Given the description of an element on the screen output the (x, y) to click on. 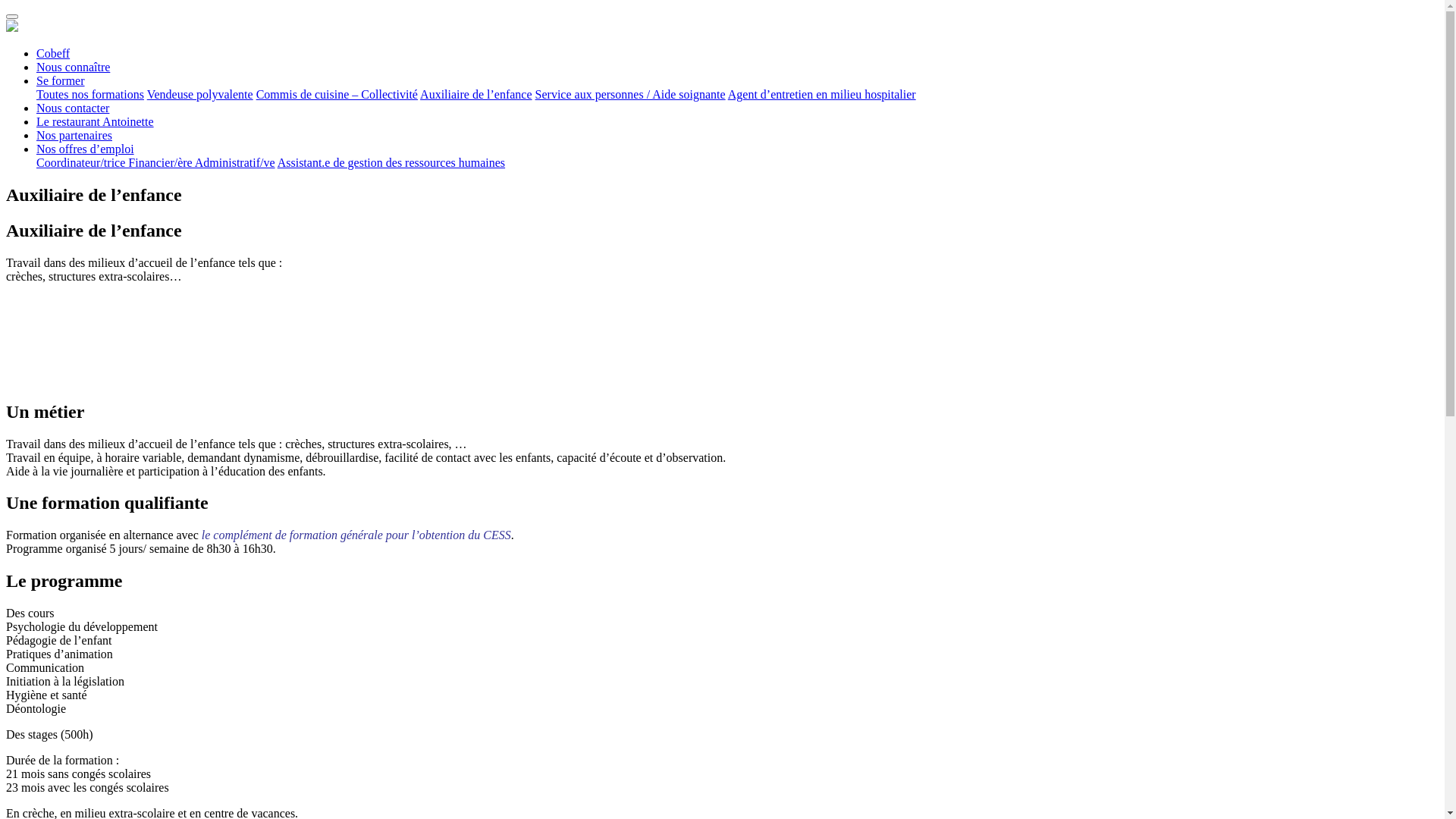
Nos partenaires Element type: text (74, 134)
Se former Element type: text (60, 80)
Toutes nos formations Element type: text (90, 93)
Service aux personnes / Aide soignante Element type: text (630, 93)
Assistant.e de gestion des ressources humaines Element type: text (391, 162)
Nous contacter Element type: text (72, 107)
Vendeuse polyvalente Element type: text (200, 93)
Le restaurant Antoinette Element type: text (94, 121)
Cobeff Element type: text (52, 53)
